Given the description of an element on the screen output the (x, y) to click on. 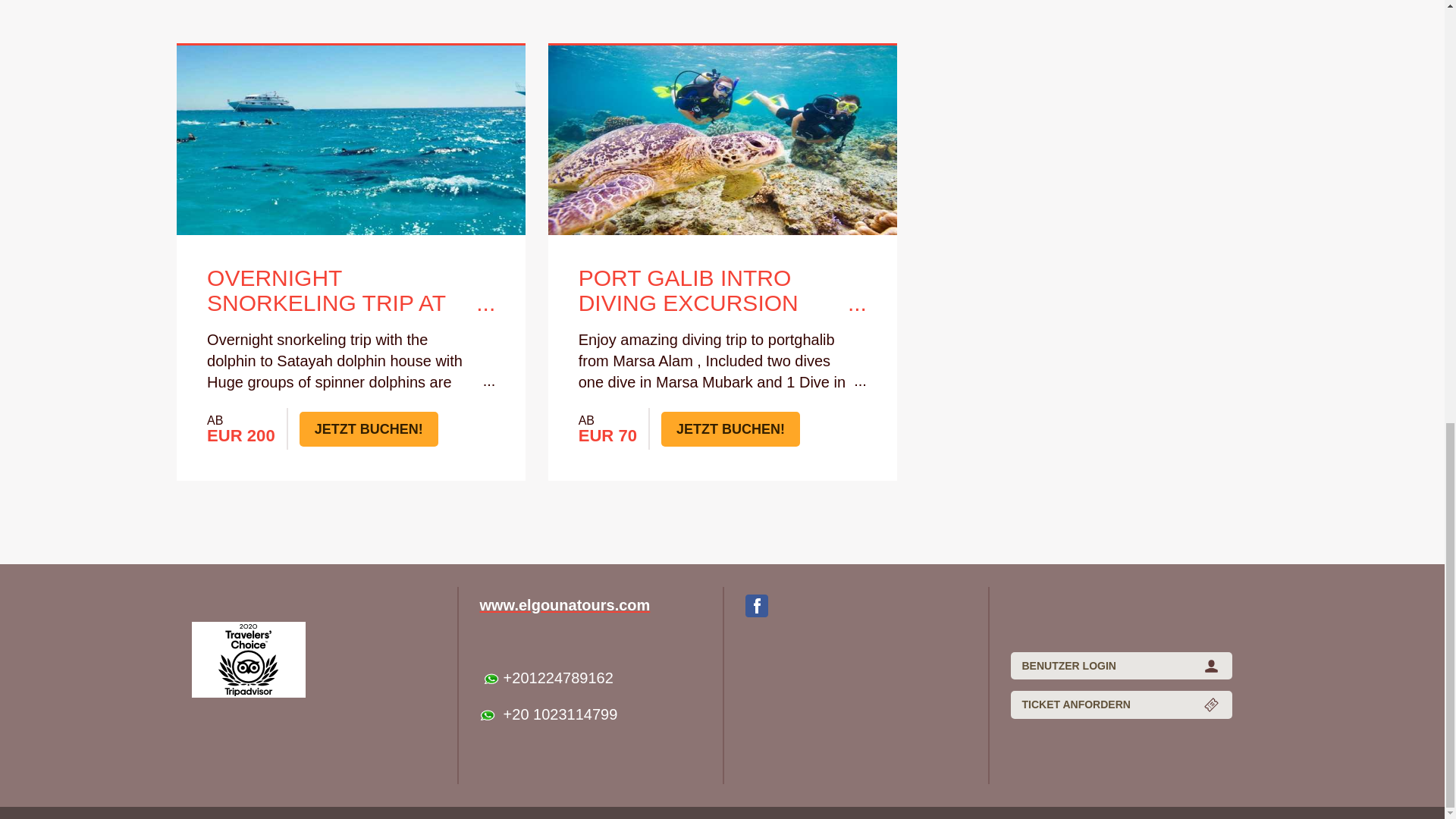
Port Galib Intro Diving Excursion From Marsaalam (722, 291)
Overnight snorkeling trip at Satayah dolphin reef Marsaalam (350, 291)
